Given the description of an element on the screen output the (x, y) to click on. 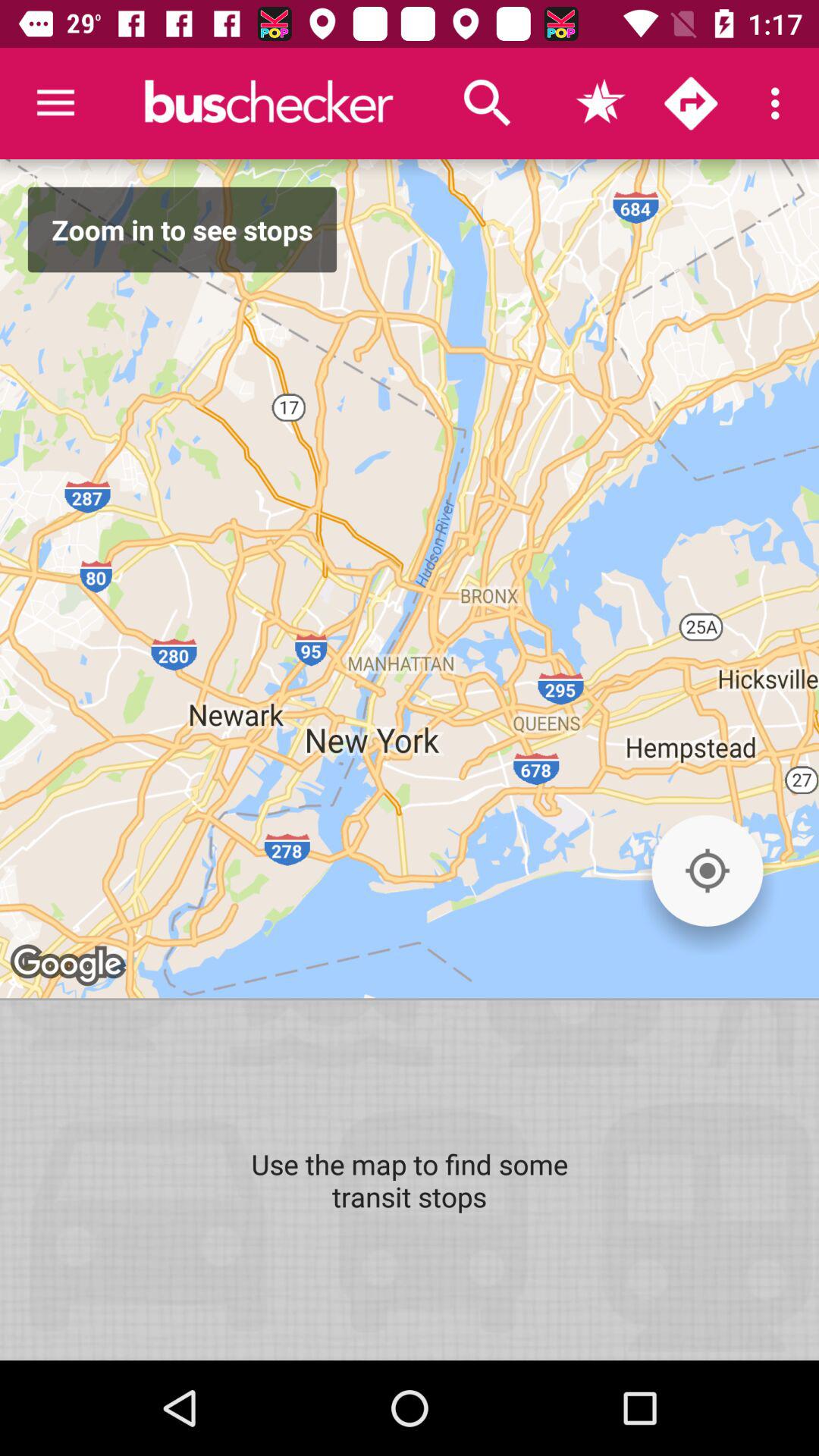
directions (690, 103)
